Given the description of an element on the screen output the (x, y) to click on. 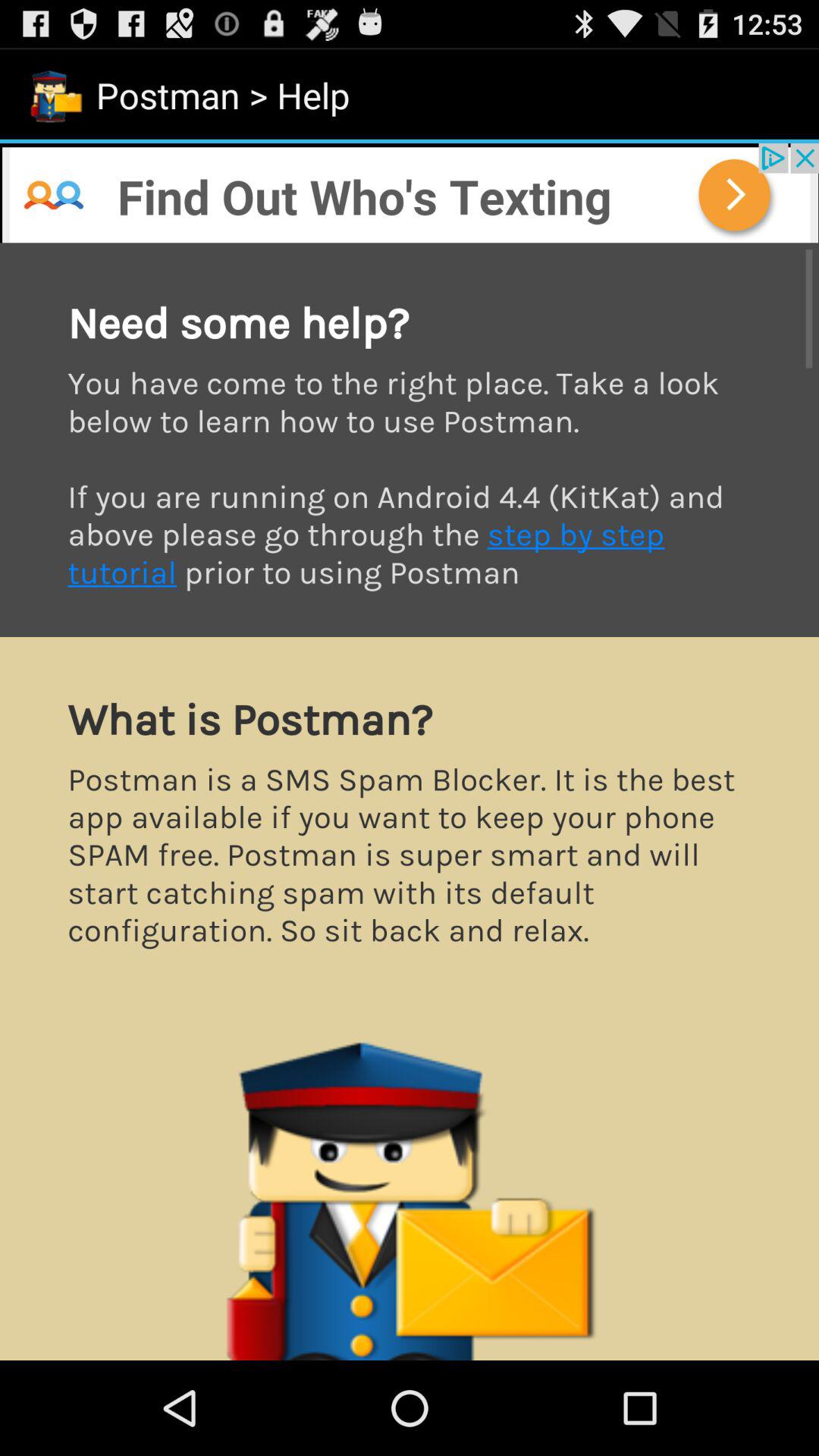
advertisement (409, 192)
